Given the description of an element on the screen output the (x, y) to click on. 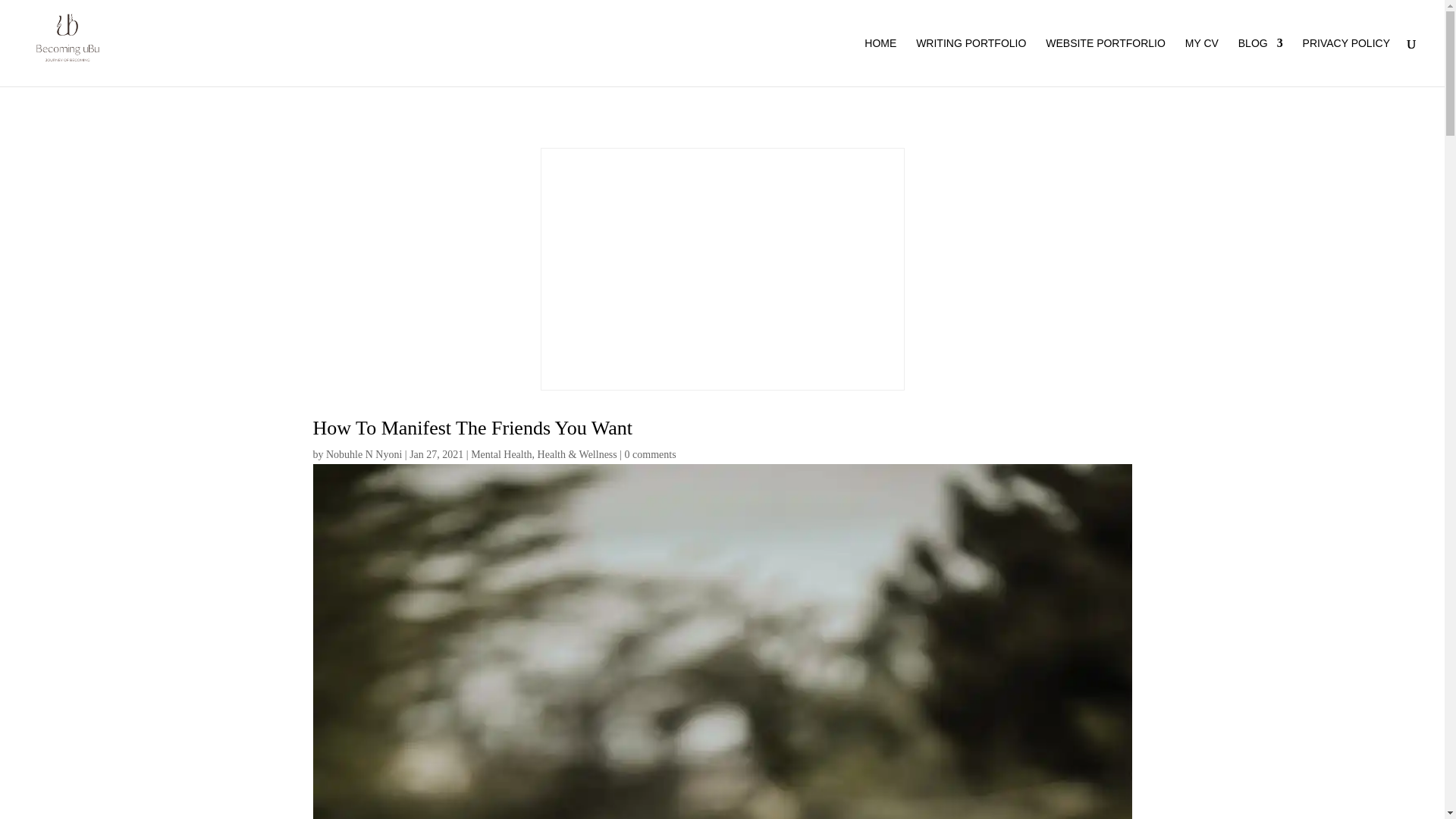
BLOG (1260, 61)
PRIVACY POLICY (1346, 61)
WEBSITE PORTFORLIO (1105, 61)
Posts by Nobuhle N Nyoni (363, 454)
WRITING PORTFOLIO (970, 61)
0 comments (650, 454)
Nobuhle N Nyoni (363, 454)
